Given the description of an element on the screen output the (x, y) to click on. 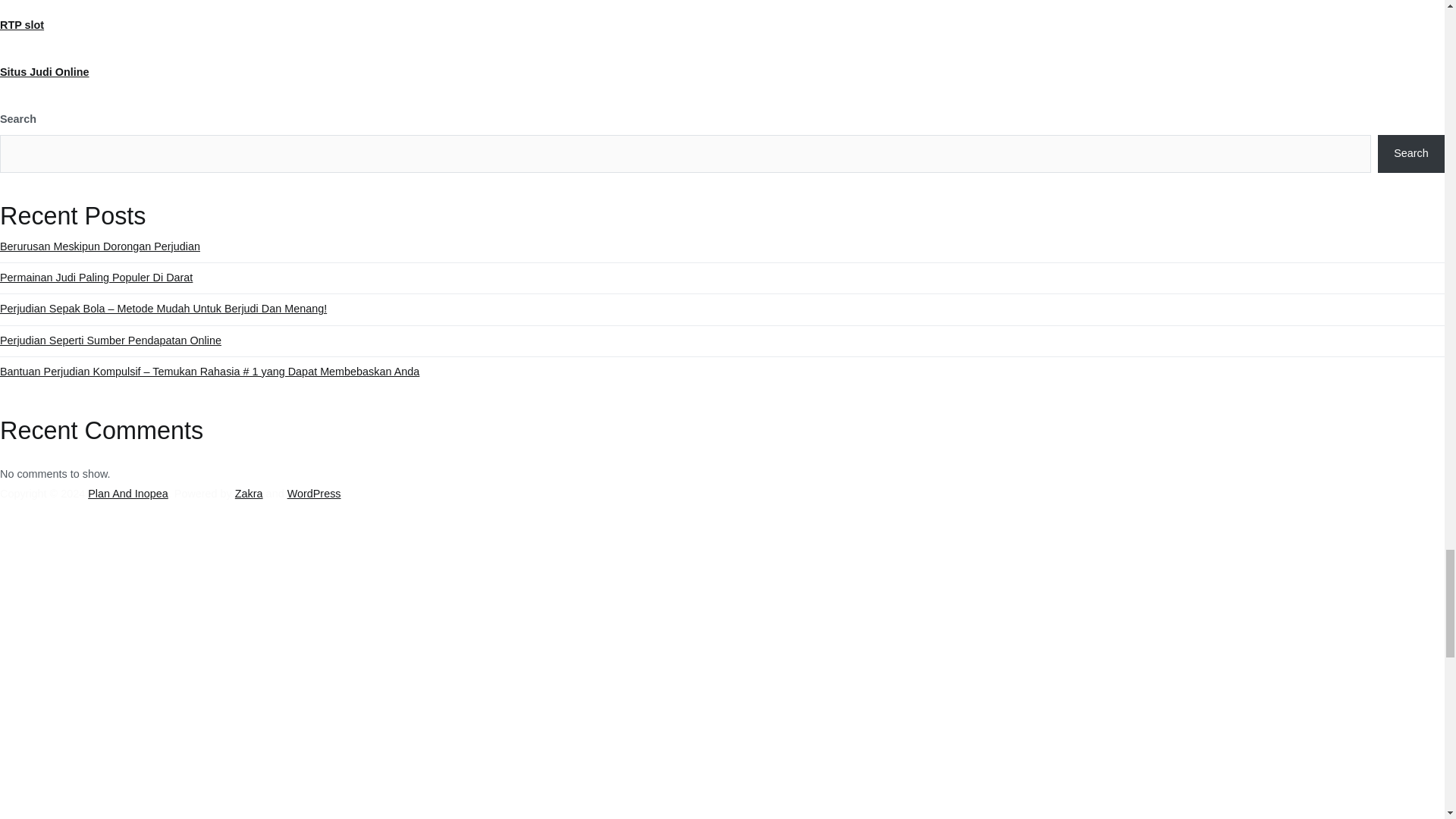
Zakra (248, 493)
WordPress (313, 493)
Plan And Inopea (127, 493)
